Given the description of an element on the screen output the (x, y) to click on. 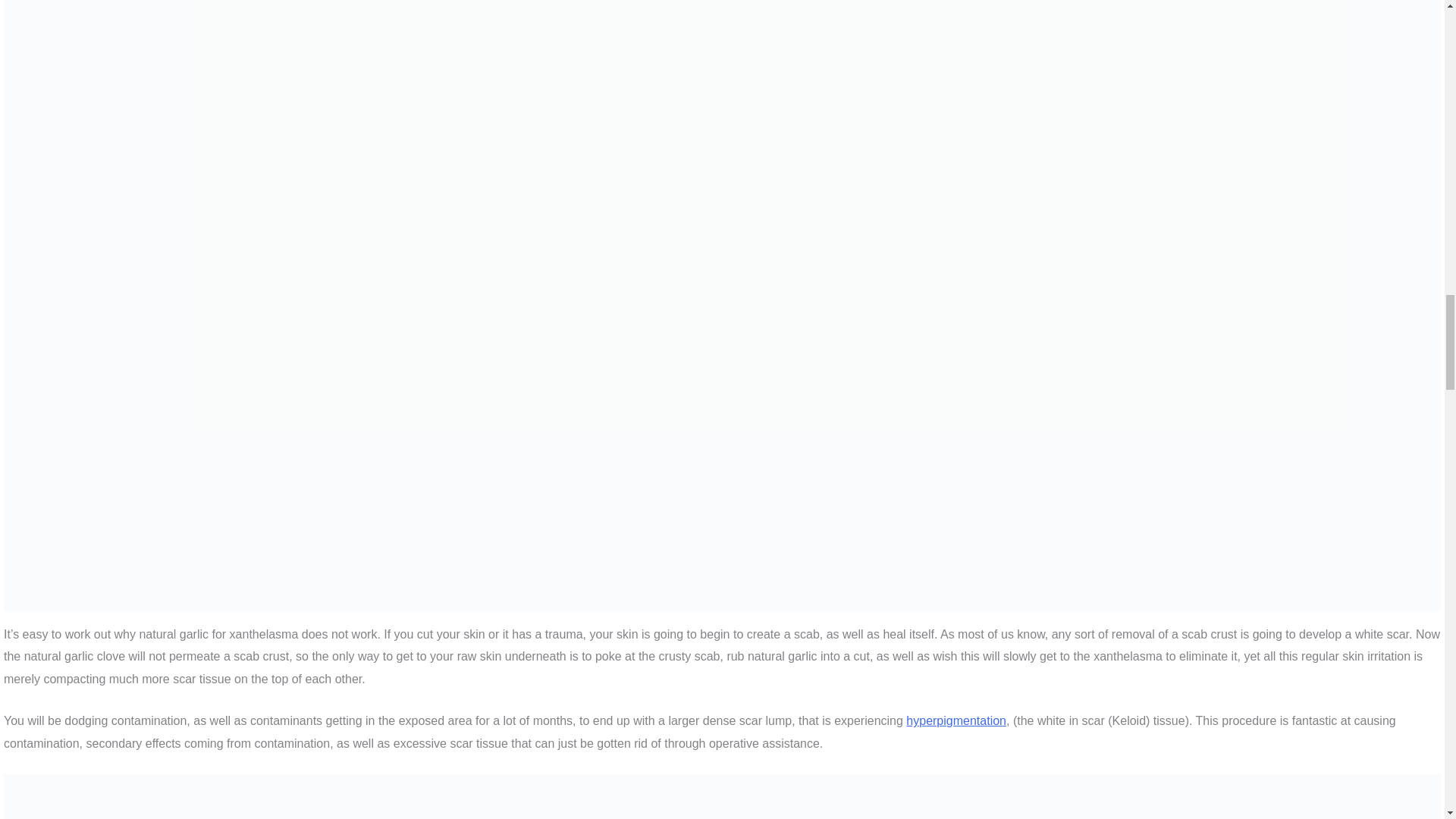
xanthelasma removal garlic (722, 796)
